Given the description of an element on the screen output the (x, y) to click on. 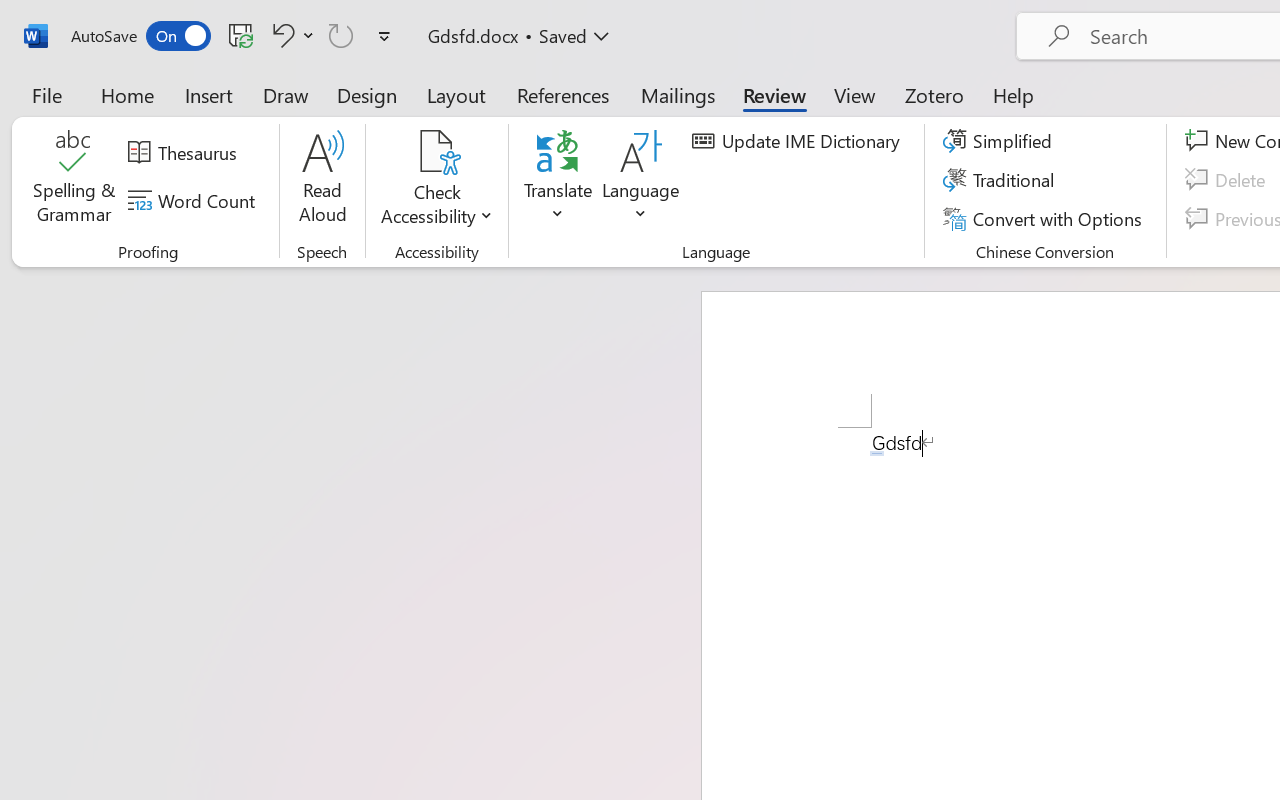
Simplified (1000, 141)
Undo AutoCorrect (280, 35)
Read Aloud (322, 179)
